Given the description of an element on the screen output the (x, y) to click on. 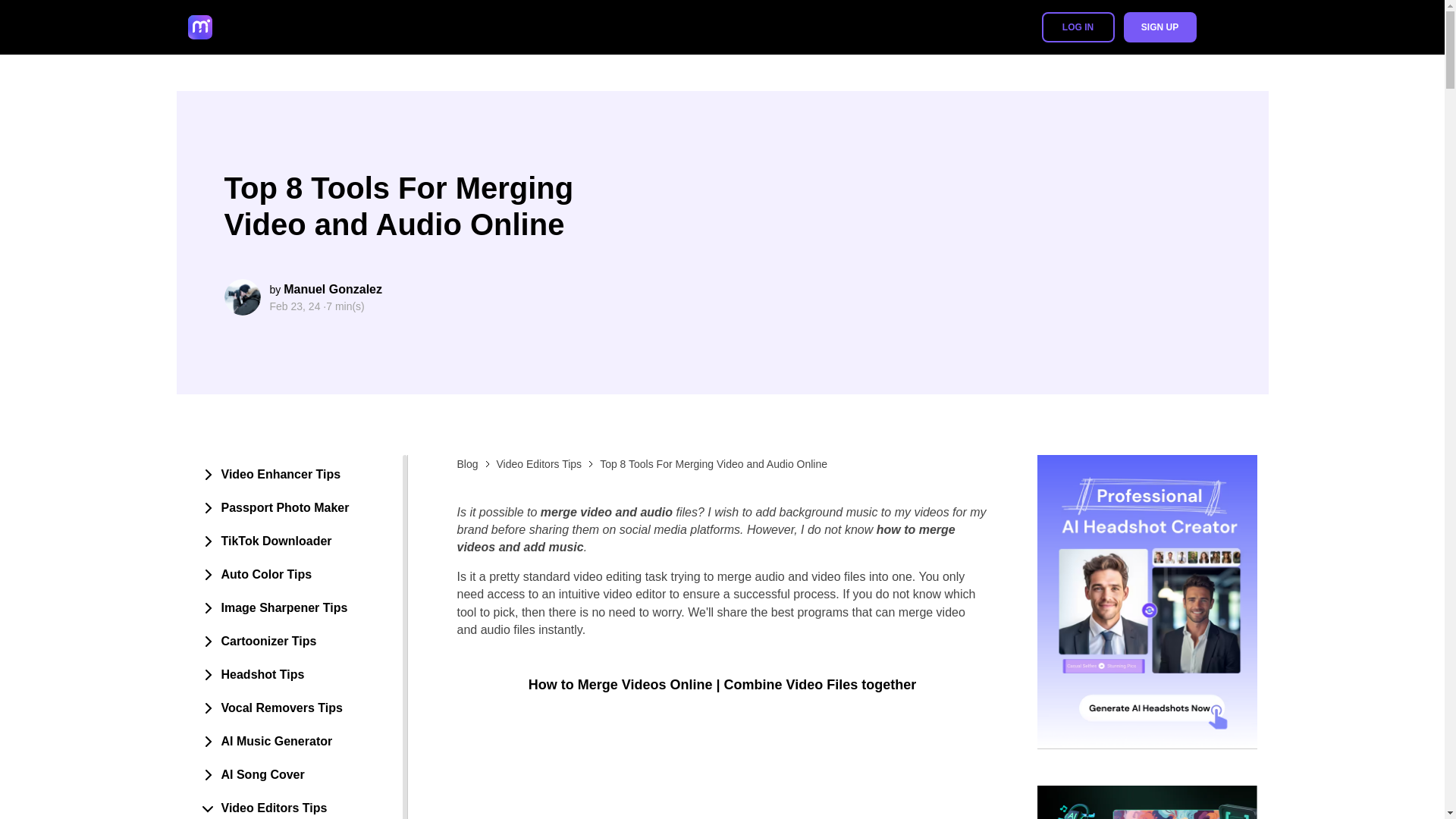
Media.io (244, 27)
